Given the description of an element on the screen output the (x, y) to click on. 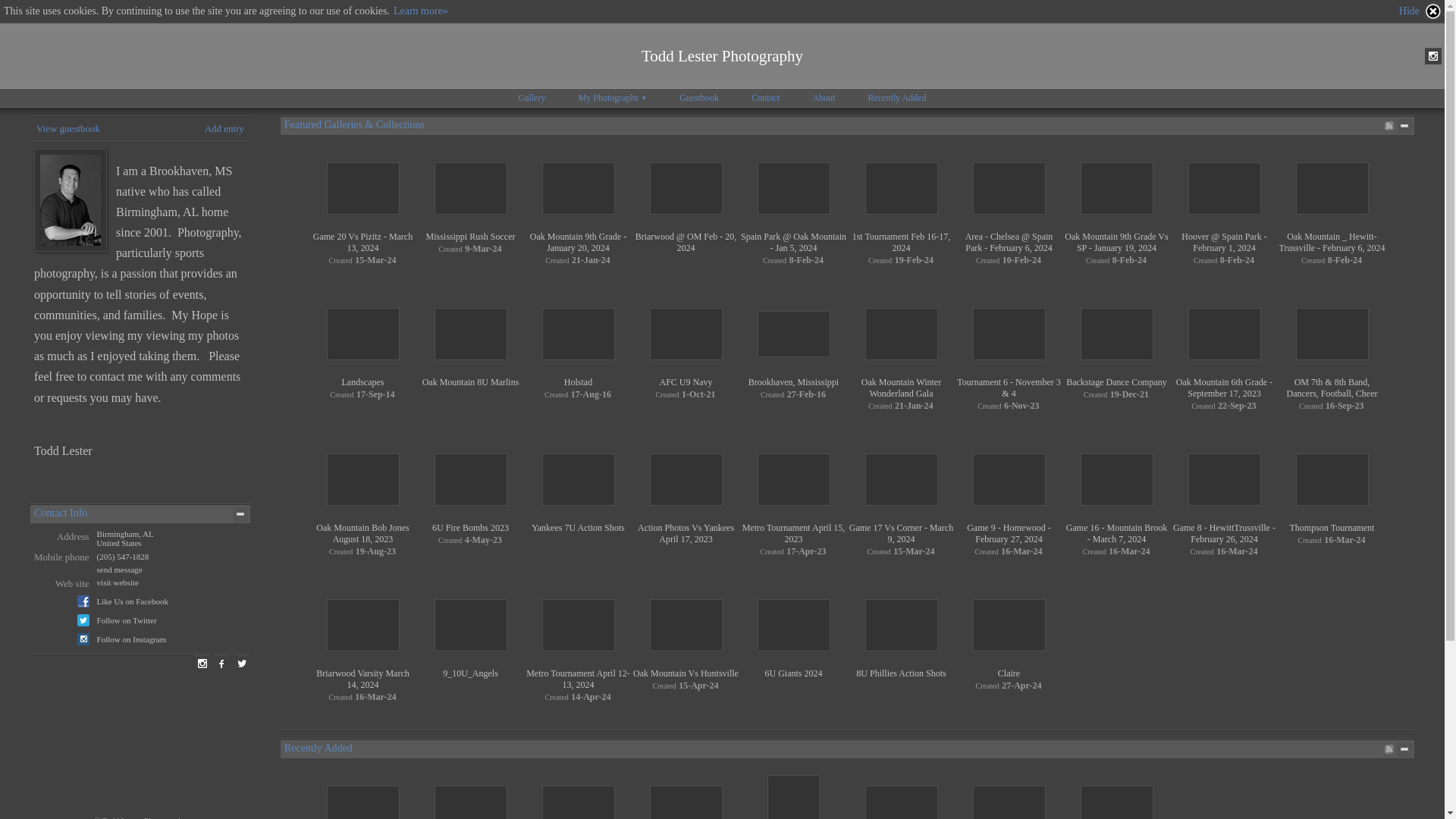
send message (119, 569)
Like Us on Facebook (132, 601)
Guestbook (698, 97)
About (823, 97)
Contact Info (60, 512)
View guestbook (68, 128)
Hide (1420, 11)
visit website (117, 582)
Todd Lester Photography (721, 55)
Follow on Twitter (127, 619)
Recently Added (895, 97)
Add entry (224, 128)
Todd Lester Photography (721, 55)
Follow on Instagram (132, 638)
Gallery (531, 97)
